Given the description of an element on the screen output the (x, y) to click on. 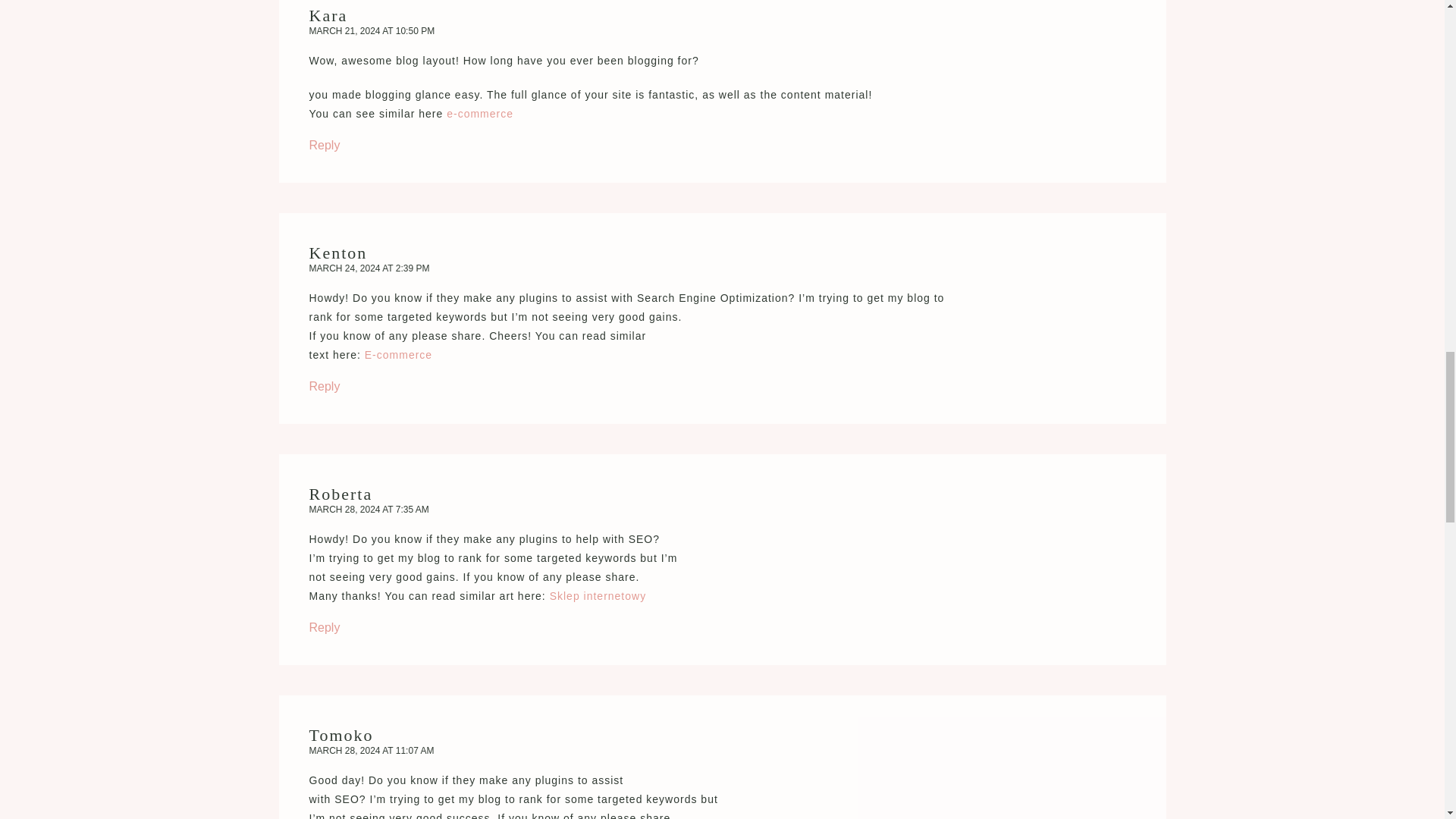
Sklep internetowy (598, 595)
Reply (324, 144)
Reply (324, 386)
E-commerce (398, 354)
Reply (324, 626)
e-commerce (479, 113)
